Given the description of an element on the screen output the (x, y) to click on. 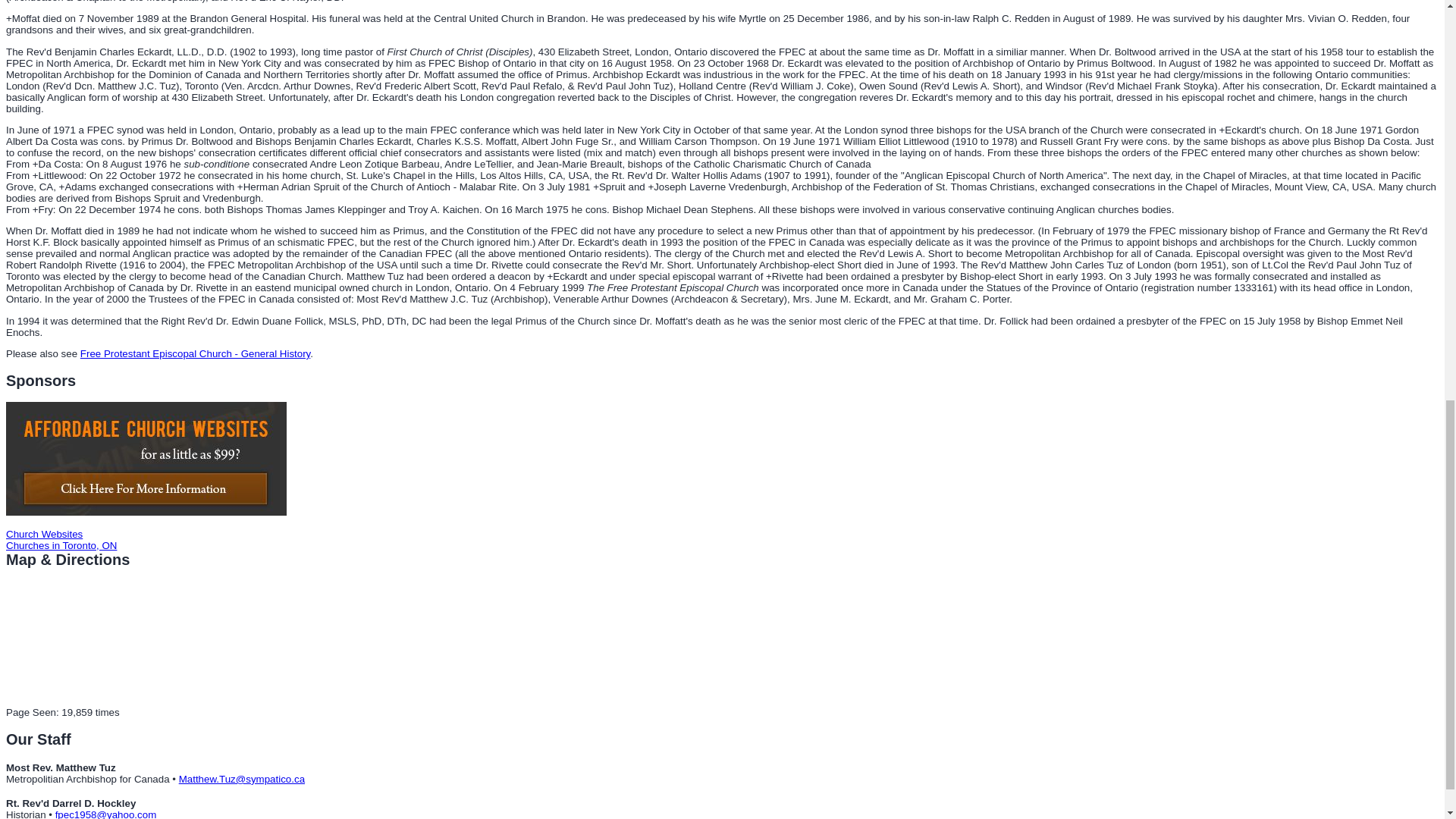
Church Websites (43, 532)
Churches in Toronto, ON (60, 545)
Free Protestant Episcopal Church - General History (195, 353)
